Given the description of an element on the screen output the (x, y) to click on. 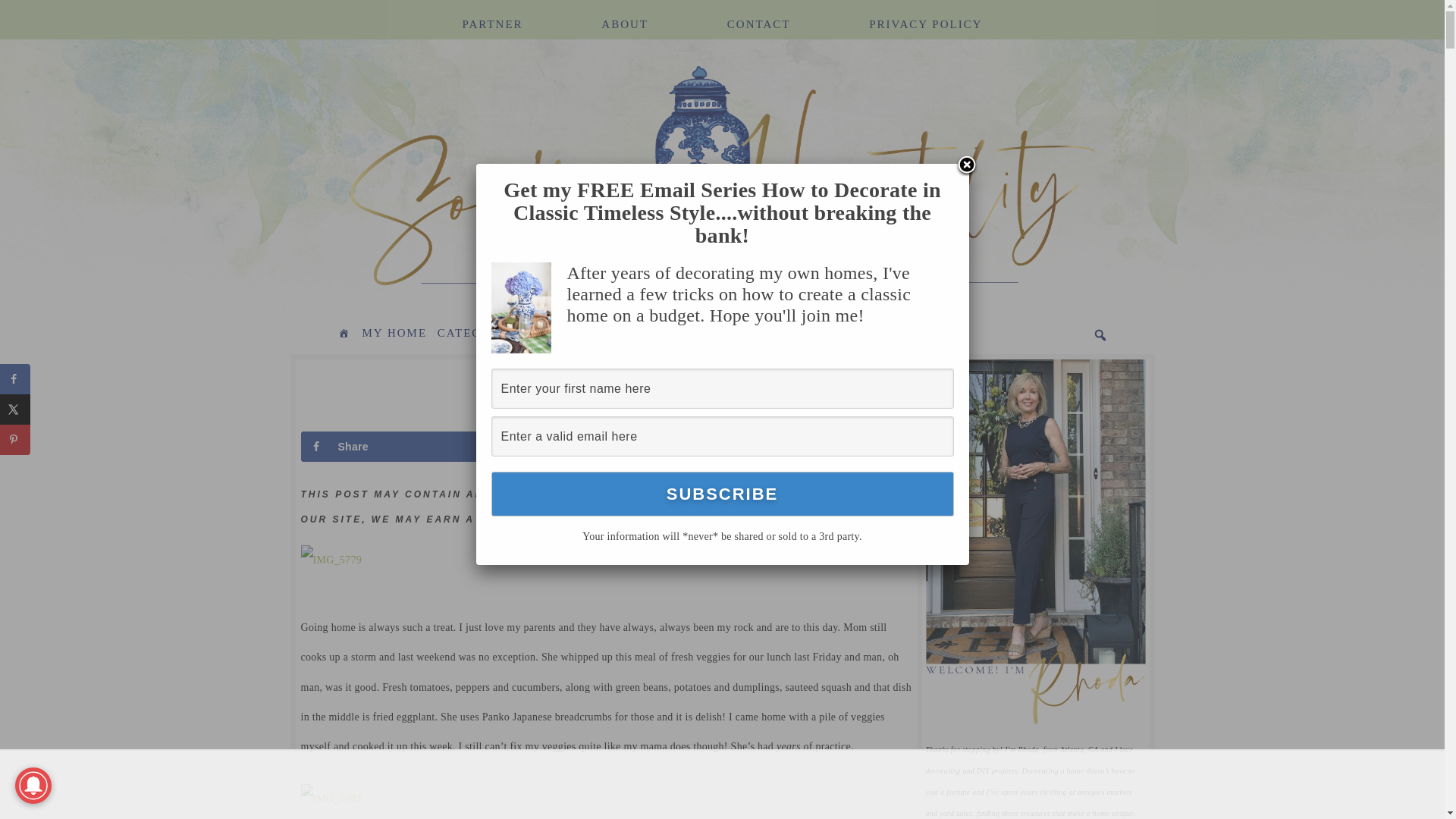
CONTACT (758, 15)
Share (389, 446)
PRIVACY POLICY (925, 15)
Share on X (579, 446)
CATEGORIES (479, 334)
DIY GALLERY (577, 334)
FEATURE FRIDAY (762, 334)
ABOUT (624, 15)
Subscribe (722, 493)
SOUTHERN HOSPITALITY (494, 179)
Share on Facebook (389, 446)
SHOP MY HOME (882, 334)
Save to Pinterest (769, 446)
RHODA (605, 416)
